Given the description of an element on the screen output the (x, y) to click on. 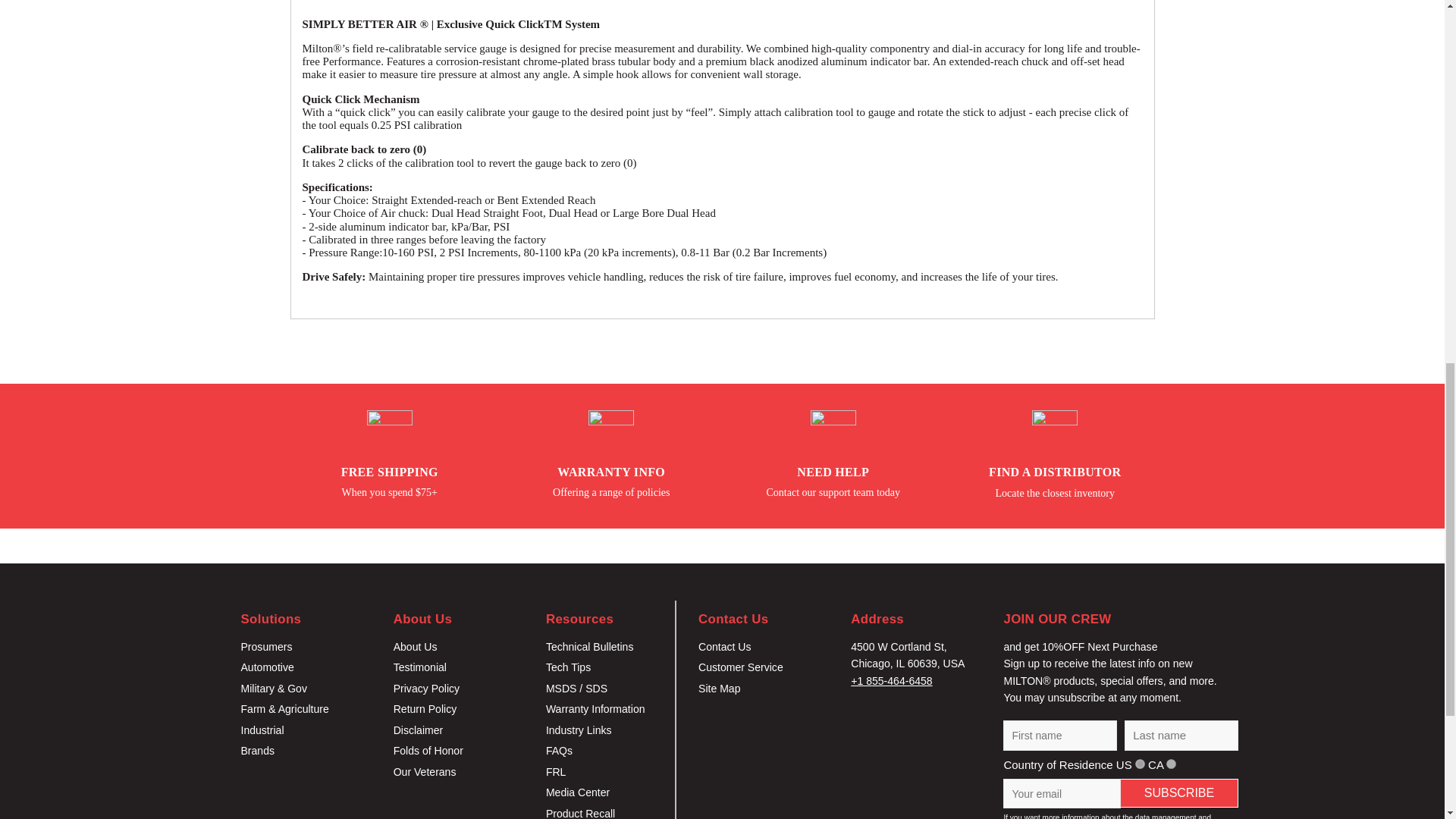
Country of Residence:CA (1171, 764)
Country of Residence:US (1139, 764)
